Given the description of an element on the screen output the (x, y) to click on. 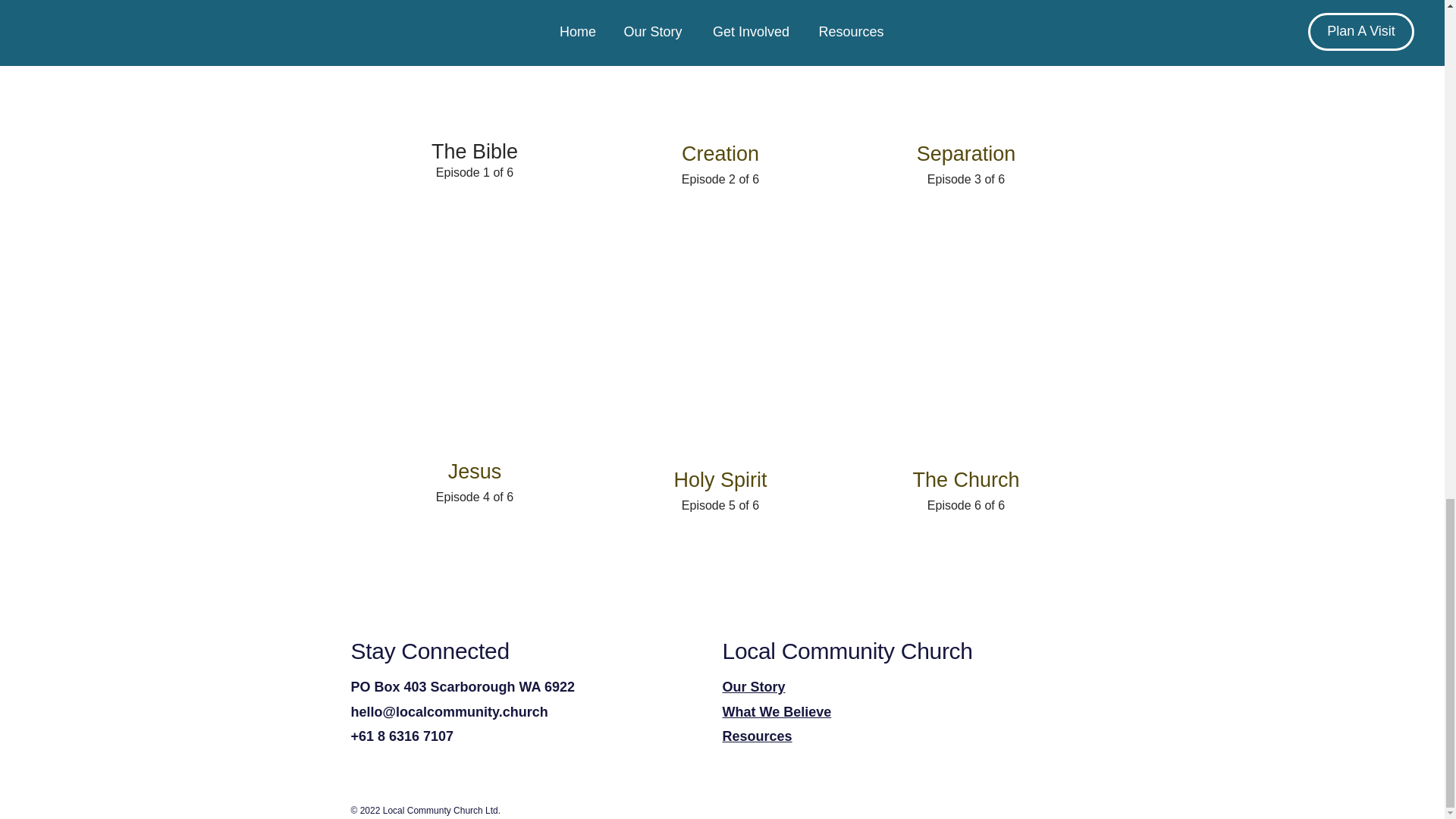
What We Believe (776, 711)
Resources (757, 735)
Our Story (753, 686)
